Given the description of an element on the screen output the (x, y) to click on. 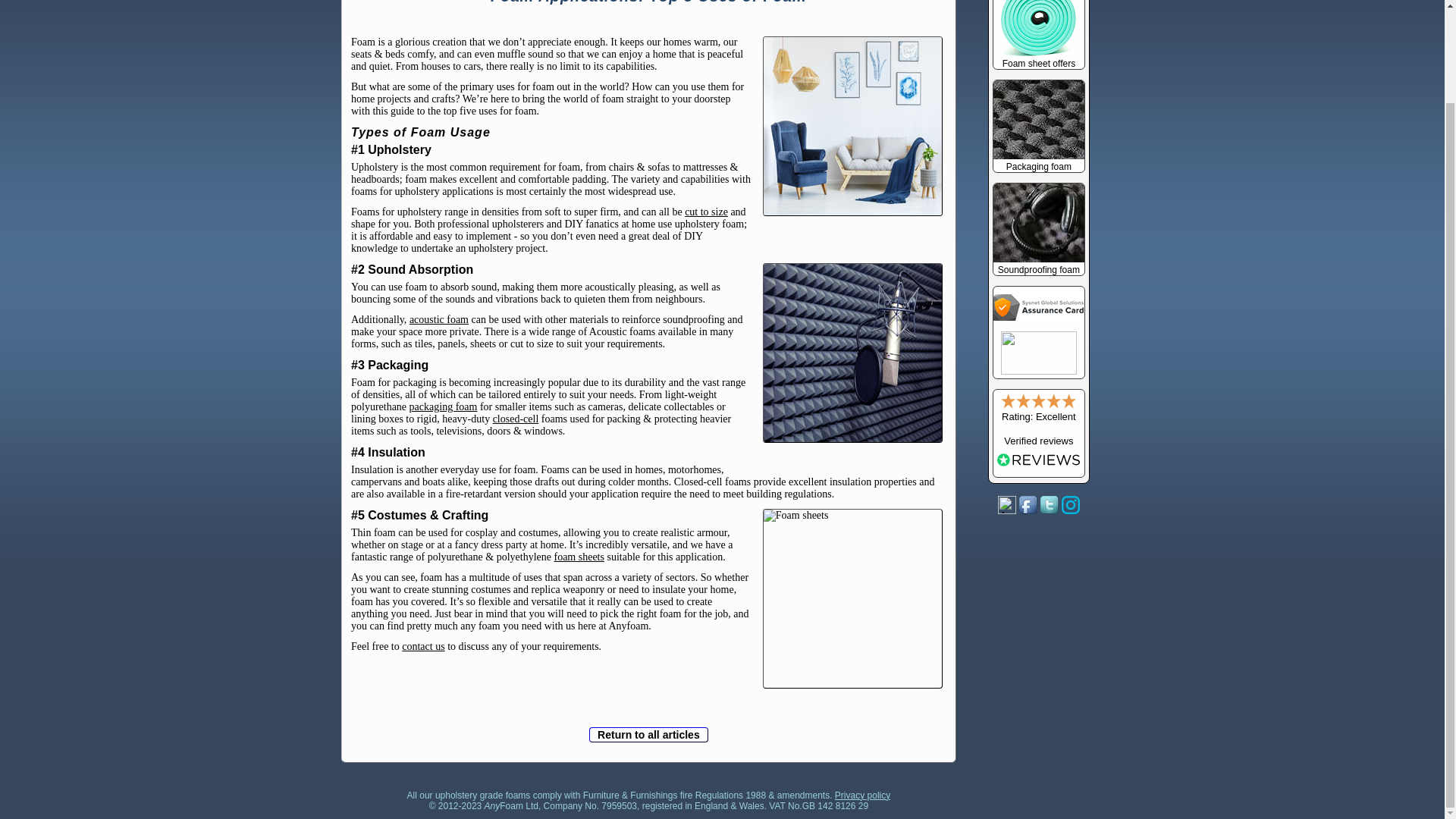
Click for our customer's reviews (1038, 435)
foam sheets (578, 556)
Anyfoam on Twitter (1049, 505)
Find us on Facebook (1027, 505)
Anyfoam Blog (1006, 505)
packaging foam (443, 406)
closed-cell (515, 419)
acoustic foam (438, 319)
Anyfoam on Instagram (1070, 505)
cut to size (706, 211)
